Given the description of an element on the screen output the (x, y) to click on. 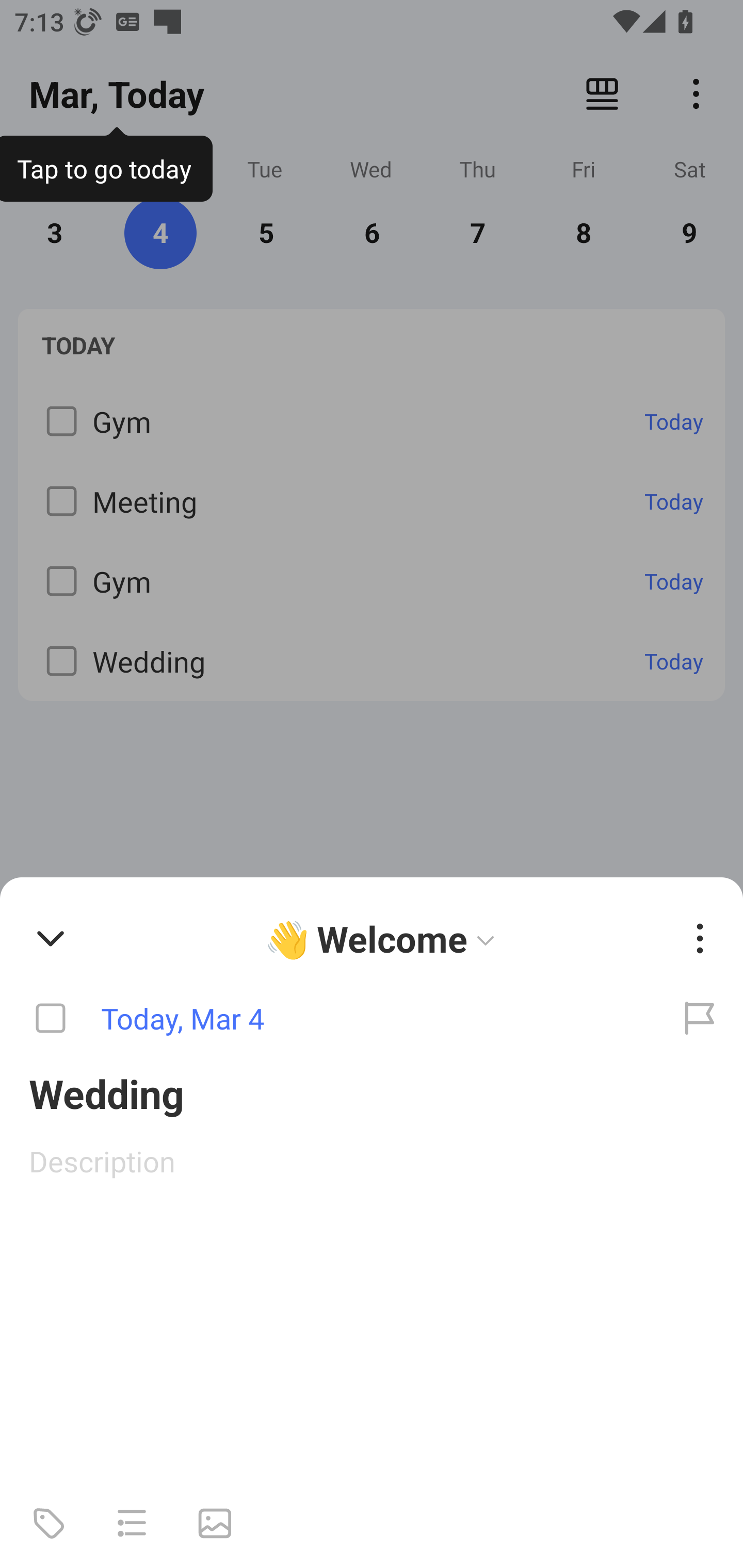
👋 Welcome (384, 938)
Today, Mar 4  (328, 1019)
Wedding (371, 1092)
Description (371, 1160)
